Given the description of an element on the screen output the (x, y) to click on. 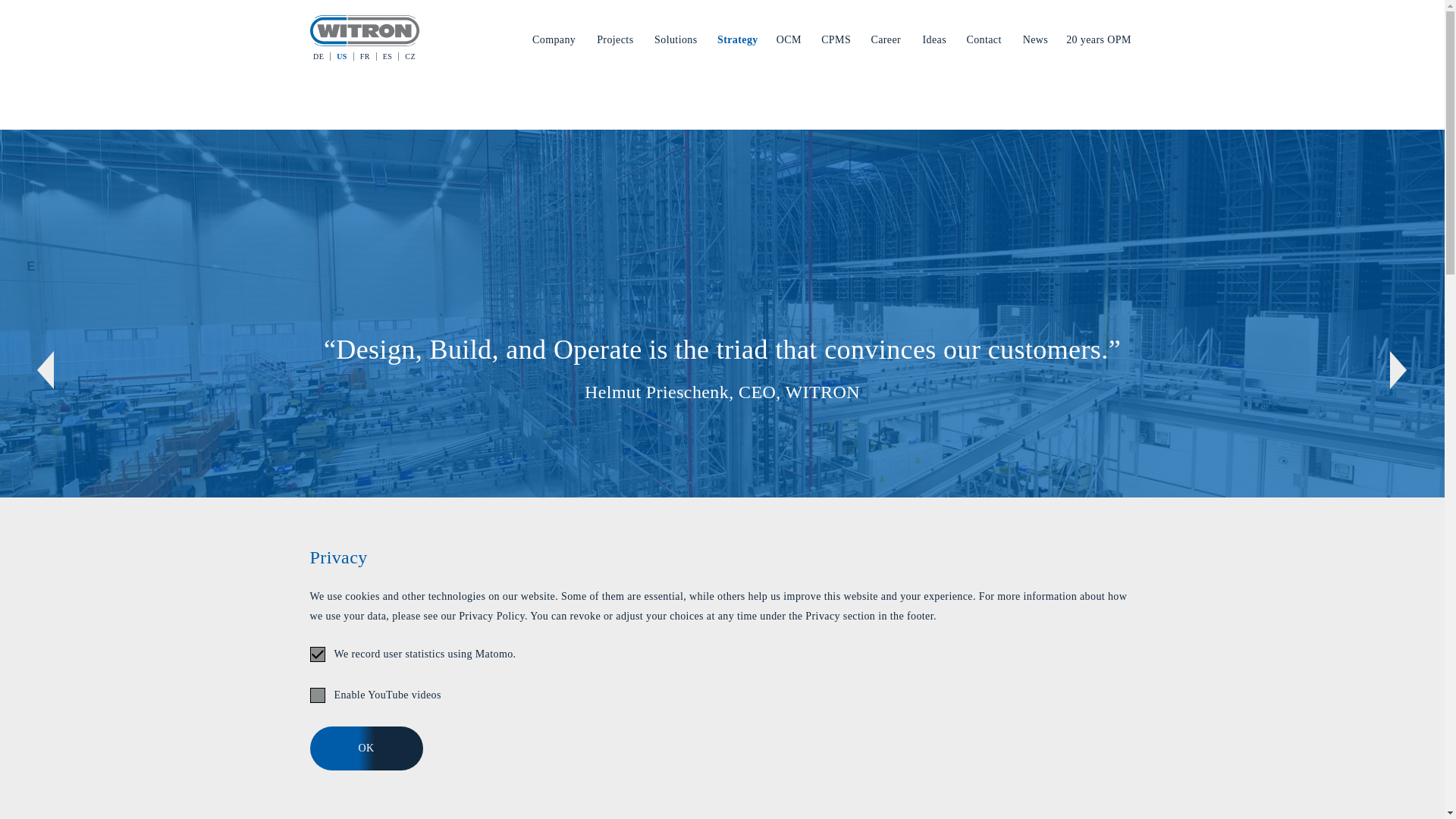
ES (387, 56)
Company (555, 41)
CZ (406, 56)
OCM (789, 41)
on (316, 694)
Strategy (737, 41)
US (341, 56)
FR (365, 56)
Career (887, 41)
DE (321, 56)
Solutions (675, 41)
News (1035, 41)
on (316, 654)
20 years OPM (1099, 41)
Ideas (936, 41)
